Given the description of an element on the screen output the (x, y) to click on. 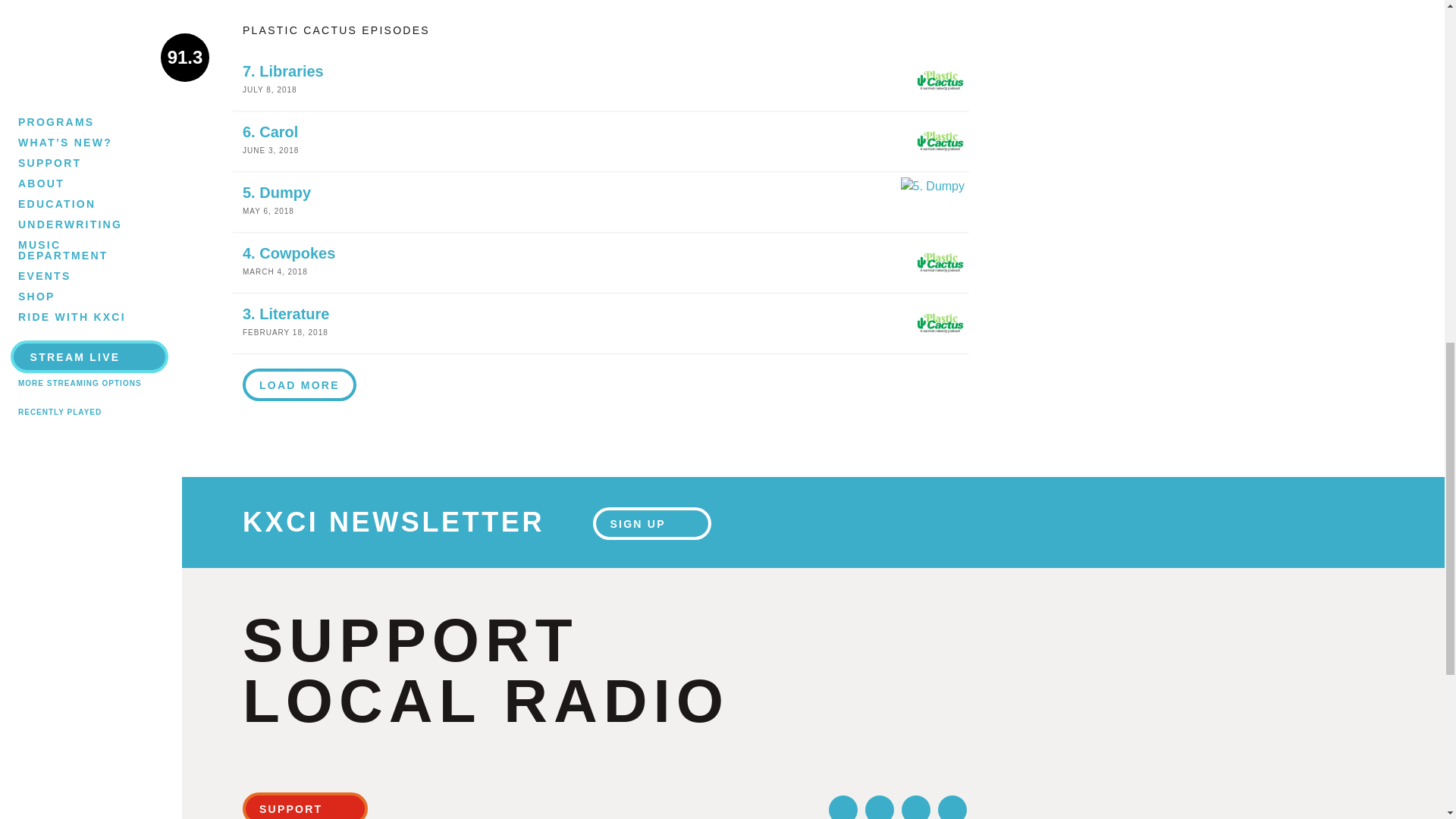
SUPPORT (305, 805)
LOAD MORE (299, 383)
LOAD MORE (299, 384)
SIGN UP (600, 79)
